Given the description of an element on the screen output the (x, y) to click on. 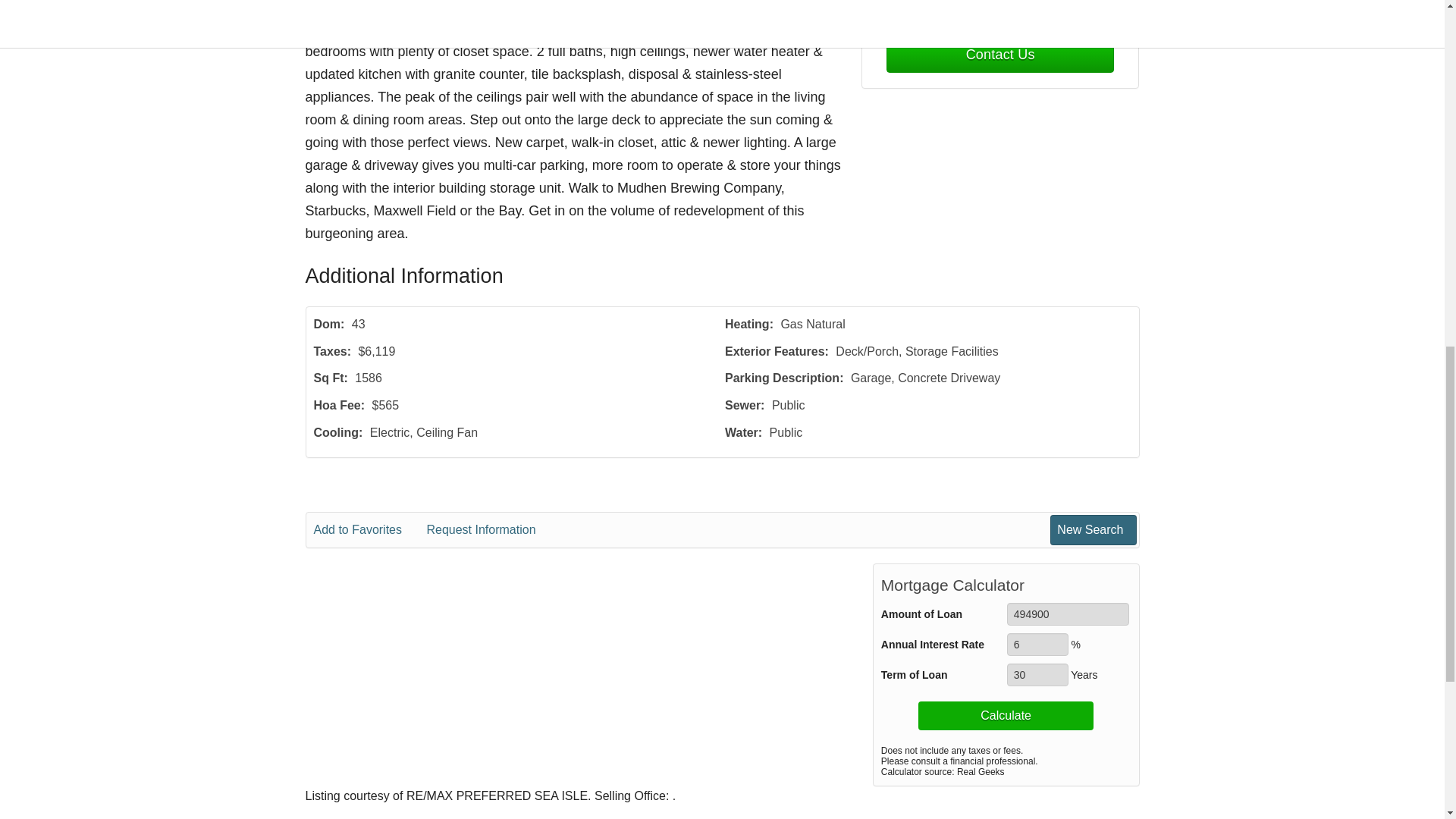
30 (1037, 674)
494900 (1068, 613)
6 (1037, 644)
Contact Us (999, 54)
609-408-4656 (1000, 11)
